Given the description of an element on the screen output the (x, y) to click on. 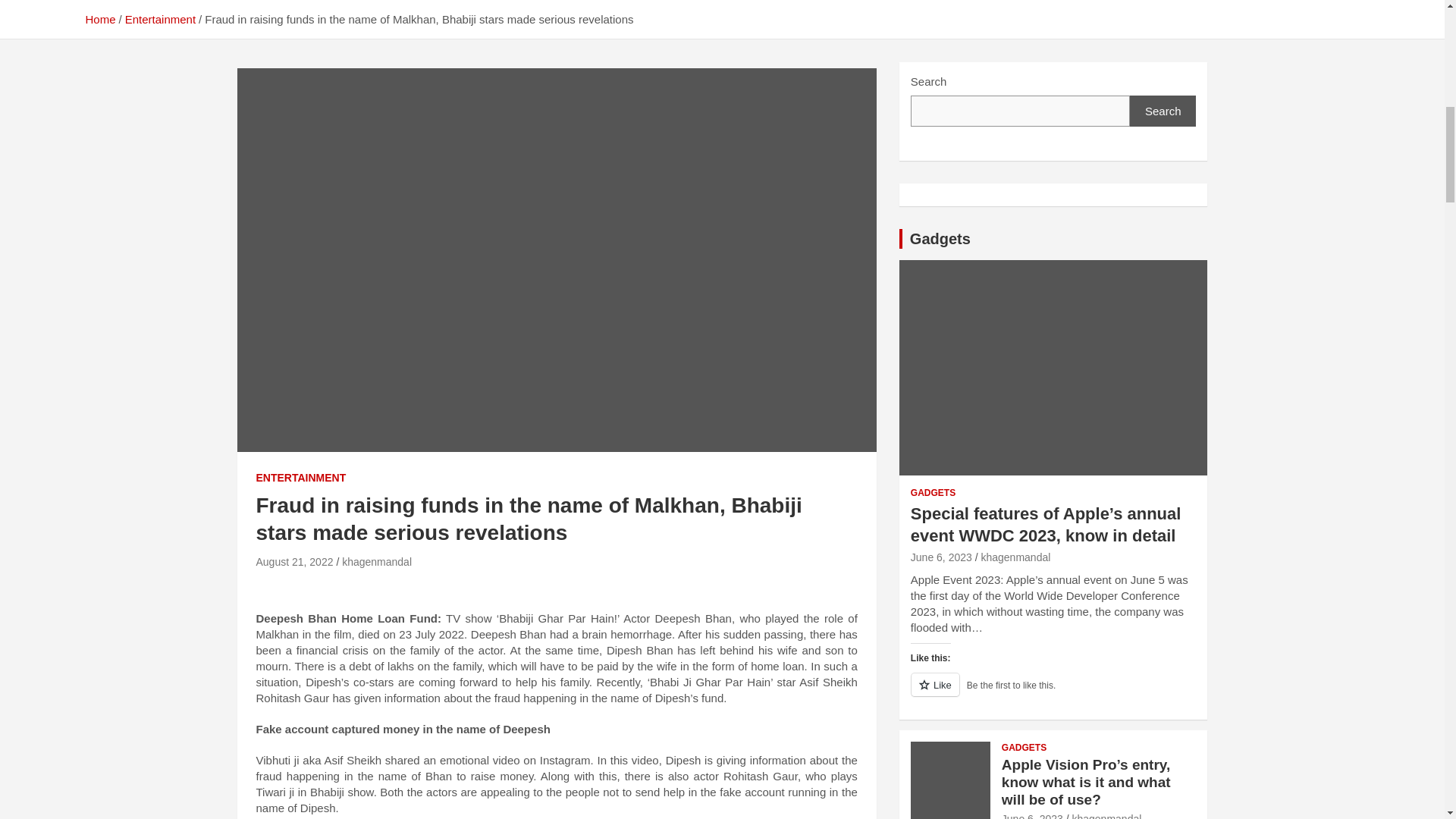
Like or Reblog (1053, 693)
